Given the description of an element on the screen output the (x, y) to click on. 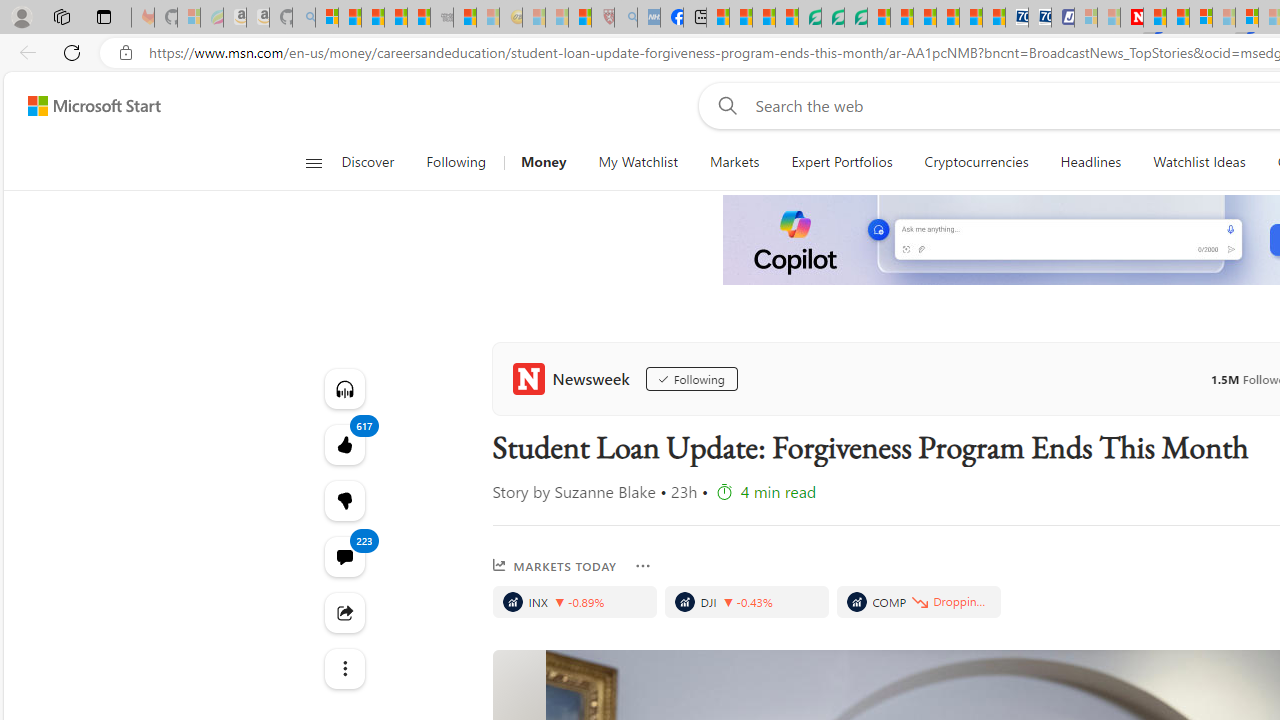
View comments 223 Comment (343, 556)
COMP, NASDAQ. Price is 17,619.35. Decreased by -1.67% (917, 601)
INX, S&P 500. Price is 5,570.64. Decreased by -0.89% (573, 601)
Latest Politics News & Archive | Newsweek.com (1132, 17)
Microsoft Start - Sleeping (1108, 17)
list of asthma inhalers uk - Search - Sleeping (625, 17)
Newsweek (574, 378)
Money (543, 162)
Microsoft Word - consumer-privacy address update 2.2021 (855, 17)
Skip to footer (82, 105)
